Given the description of an element on the screen output the (x, y) to click on. 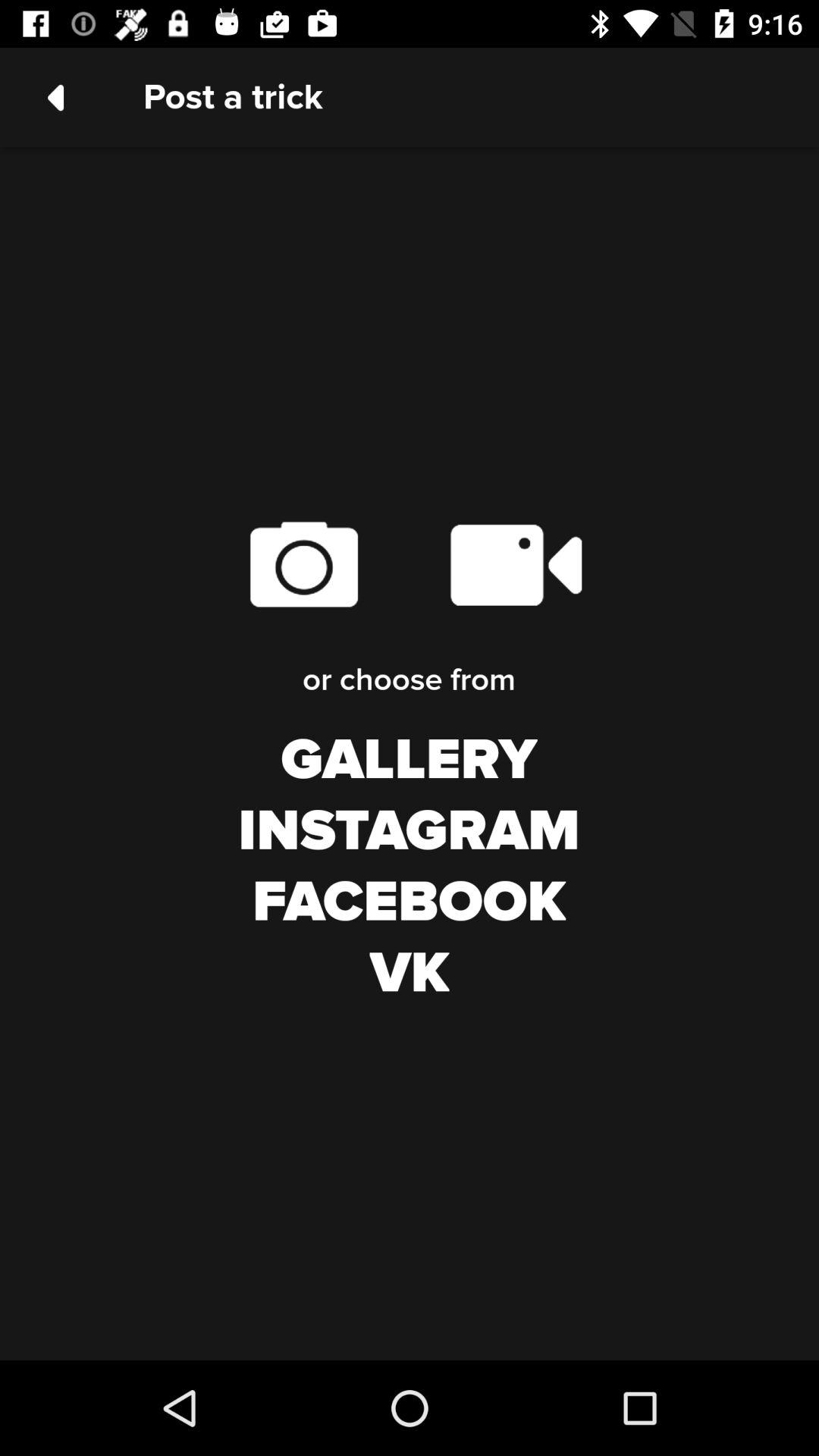
press item below the instagram (408, 902)
